Given the description of an element on the screen output the (x, y) to click on. 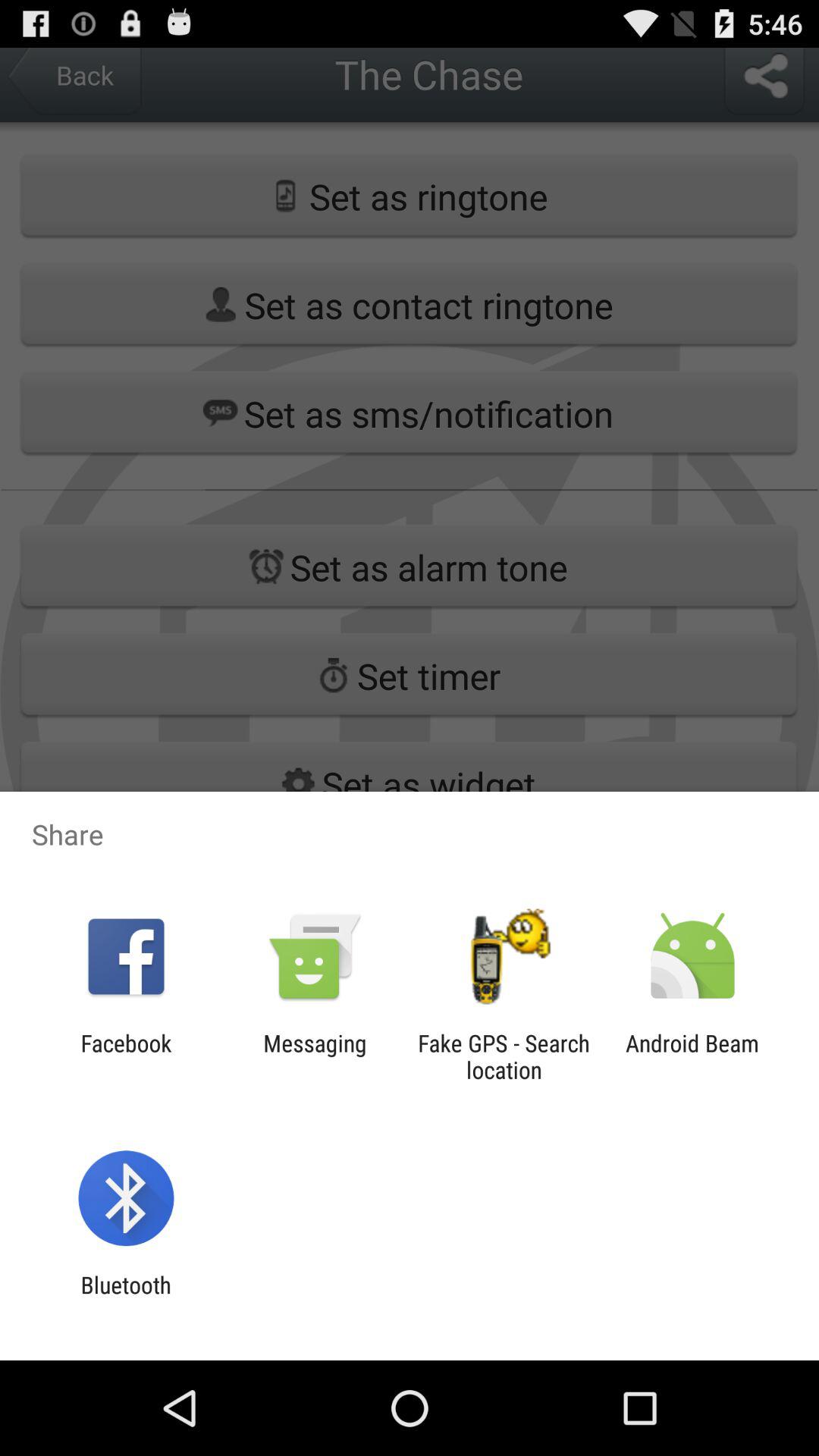
press the item next to the fake gps search icon (314, 1056)
